Given the description of an element on the screen output the (x, y) to click on. 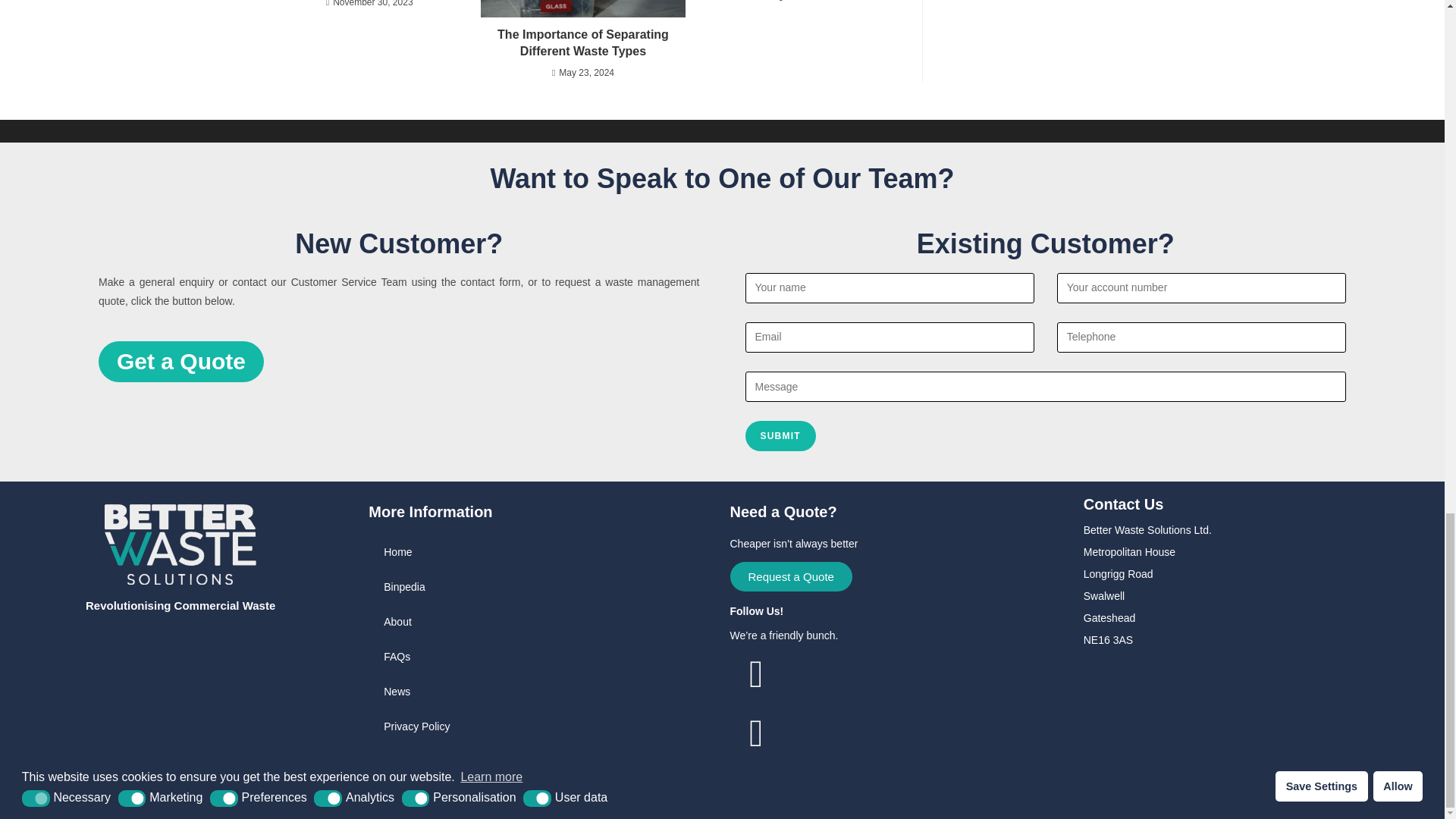
Logo Trans (180, 544)
Submit (779, 435)
